Given the description of an element on the screen output the (x, y) to click on. 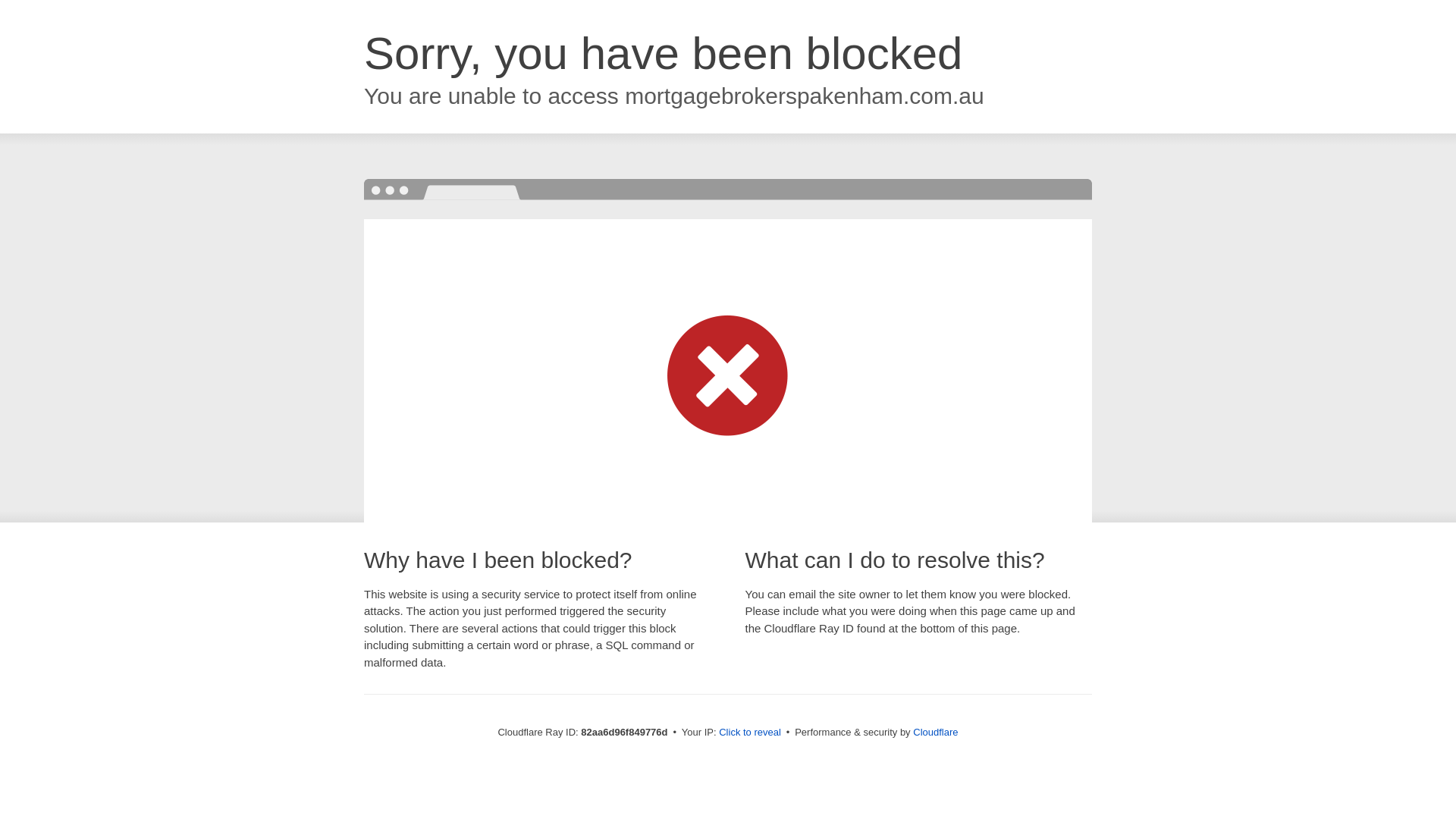
Click to reveal Element type: text (749, 732)
Cloudflare Element type: text (935, 731)
